Given the description of an element on the screen output the (x, y) to click on. 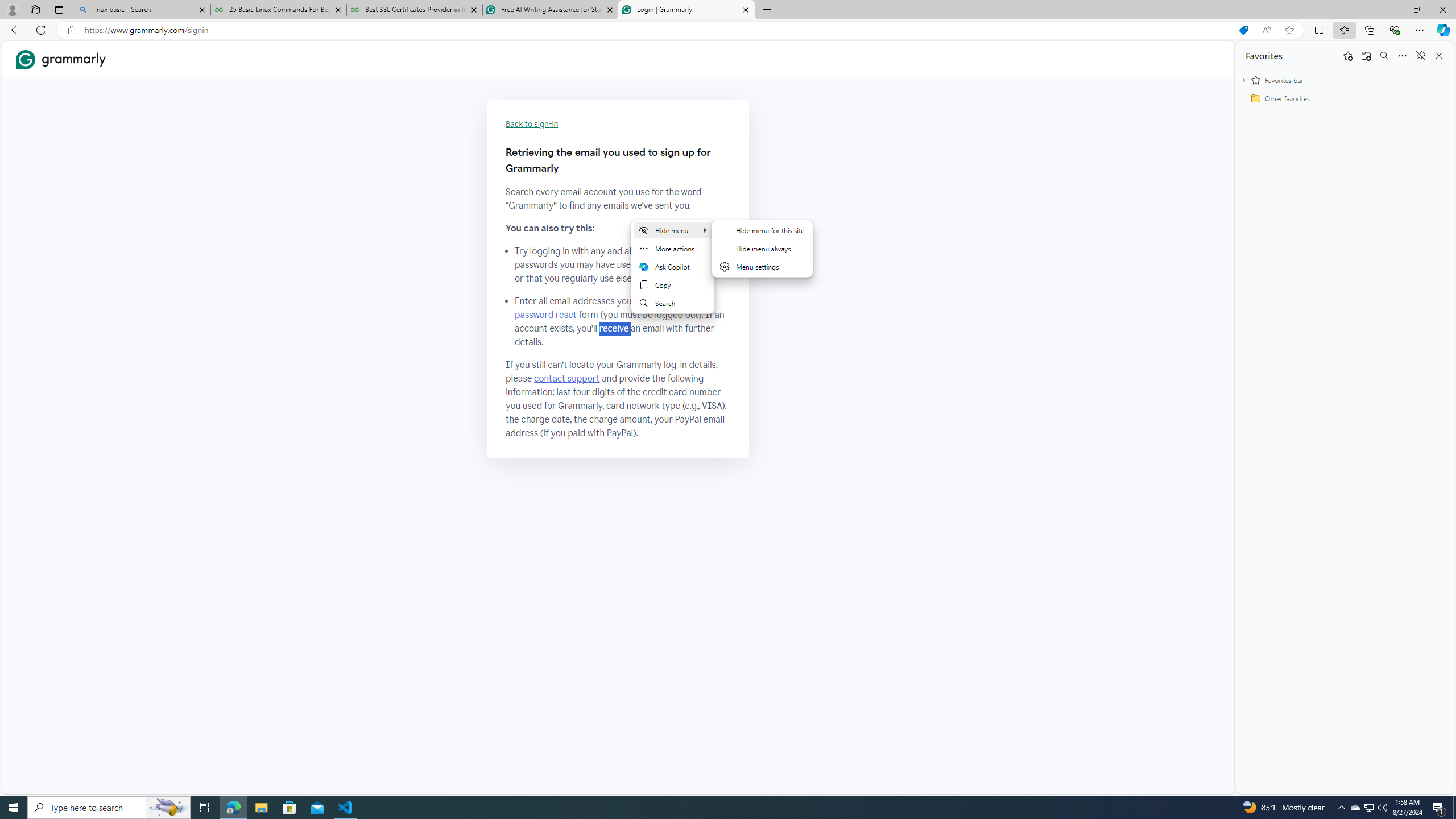
Hide menu (761, 248)
Login | Grammarly (685, 9)
Mini menu on text selection (672, 273)
contact support (566, 378)
Grammarly Home (61, 58)
Copy (672, 285)
password reset (545, 314)
